Given the description of an element on the screen output the (x, y) to click on. 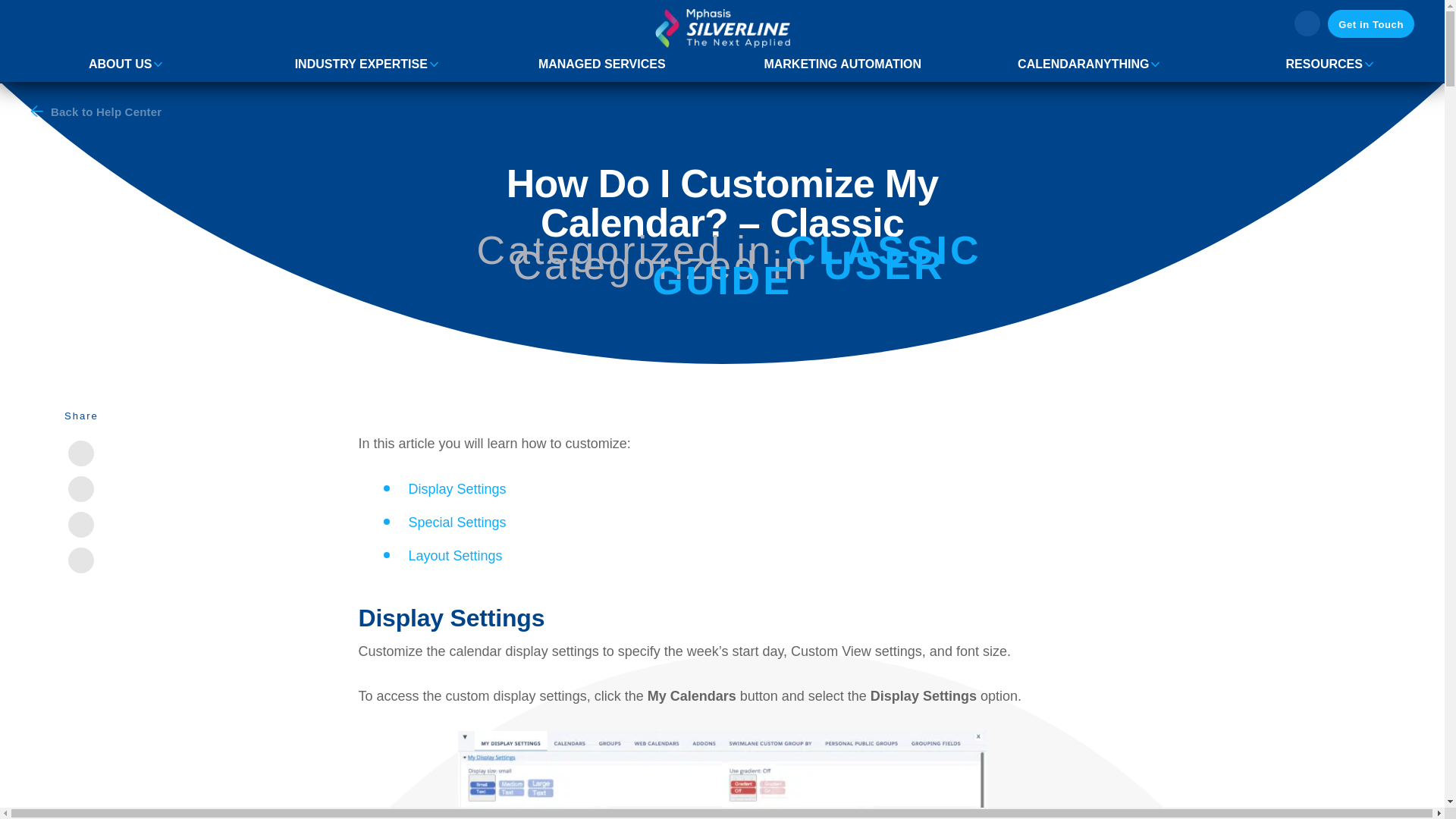
MARKETING AUTOMATION (841, 63)
ABOUT US (120, 63)
CALENDARANYTHING (1082, 63)
MANAGED SERVICES (601, 63)
INDUSTRY EXPERTISE (361, 63)
Get in Touch (1370, 22)
